Given the description of an element on the screen output the (x, y) to click on. 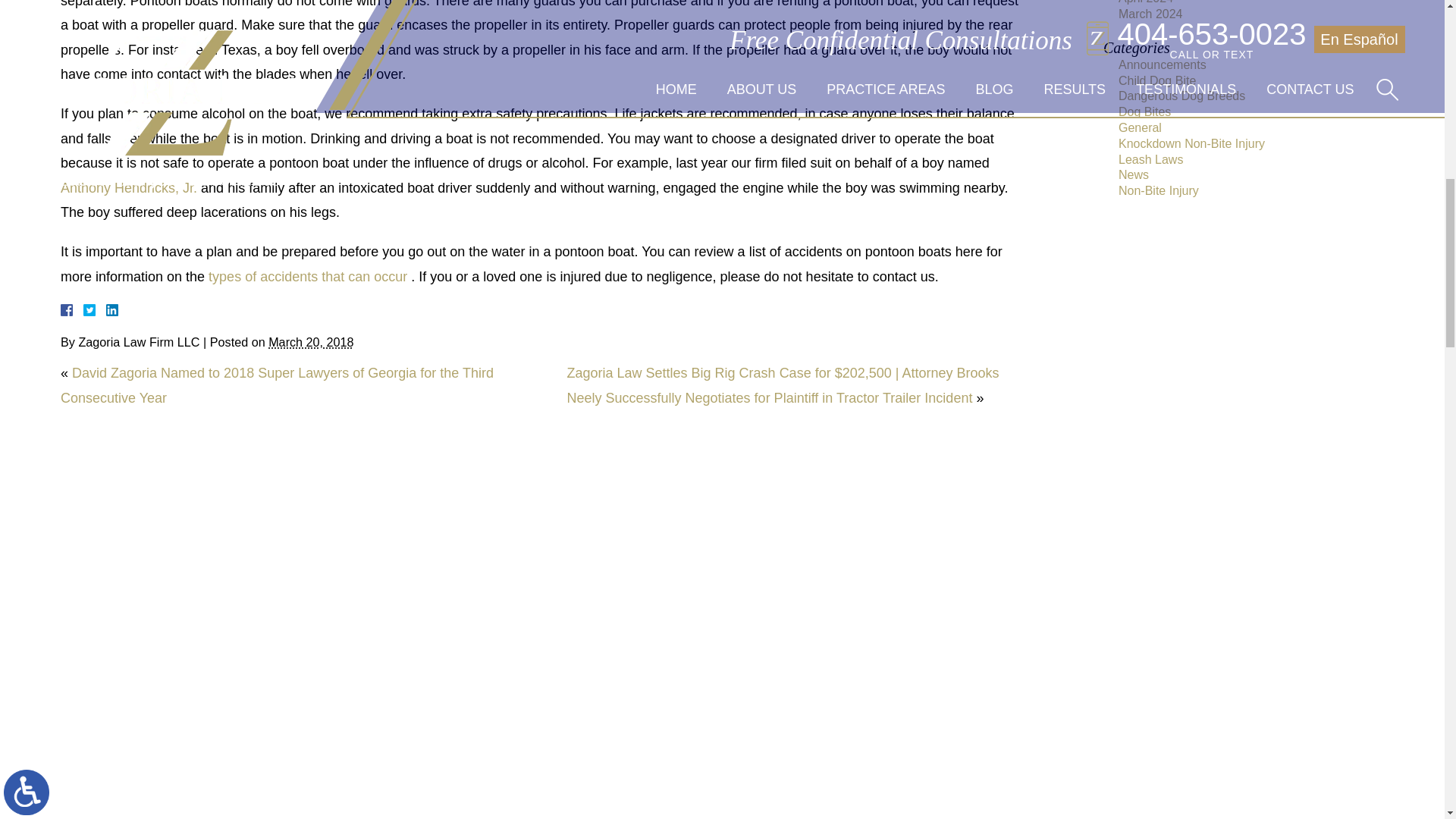
Facebook (85, 309)
2018-03-20T19:28:21-0700 (310, 341)
LinkedIn (106, 309)
Twitter (95, 309)
